Given the description of an element on the screen output the (x, y) to click on. 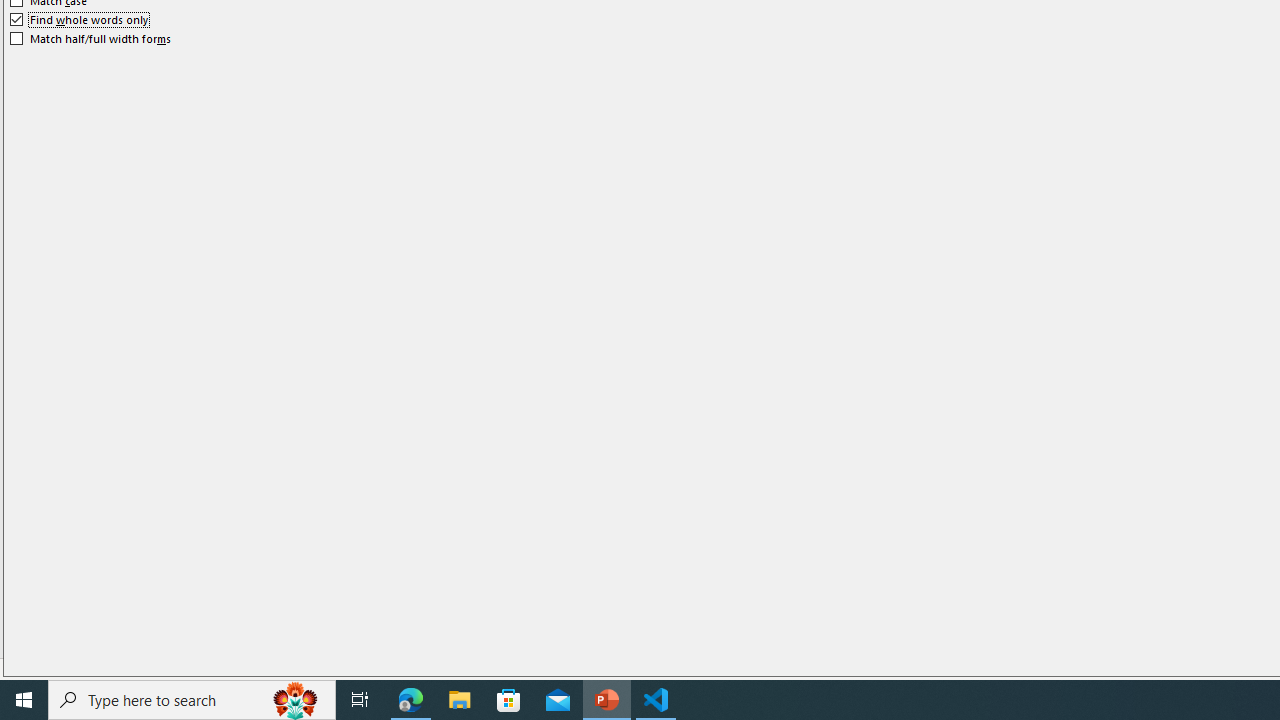
Find whole words only (79, 20)
Match half/full width forms (91, 38)
